Given the description of an element on the screen output the (x, y) to click on. 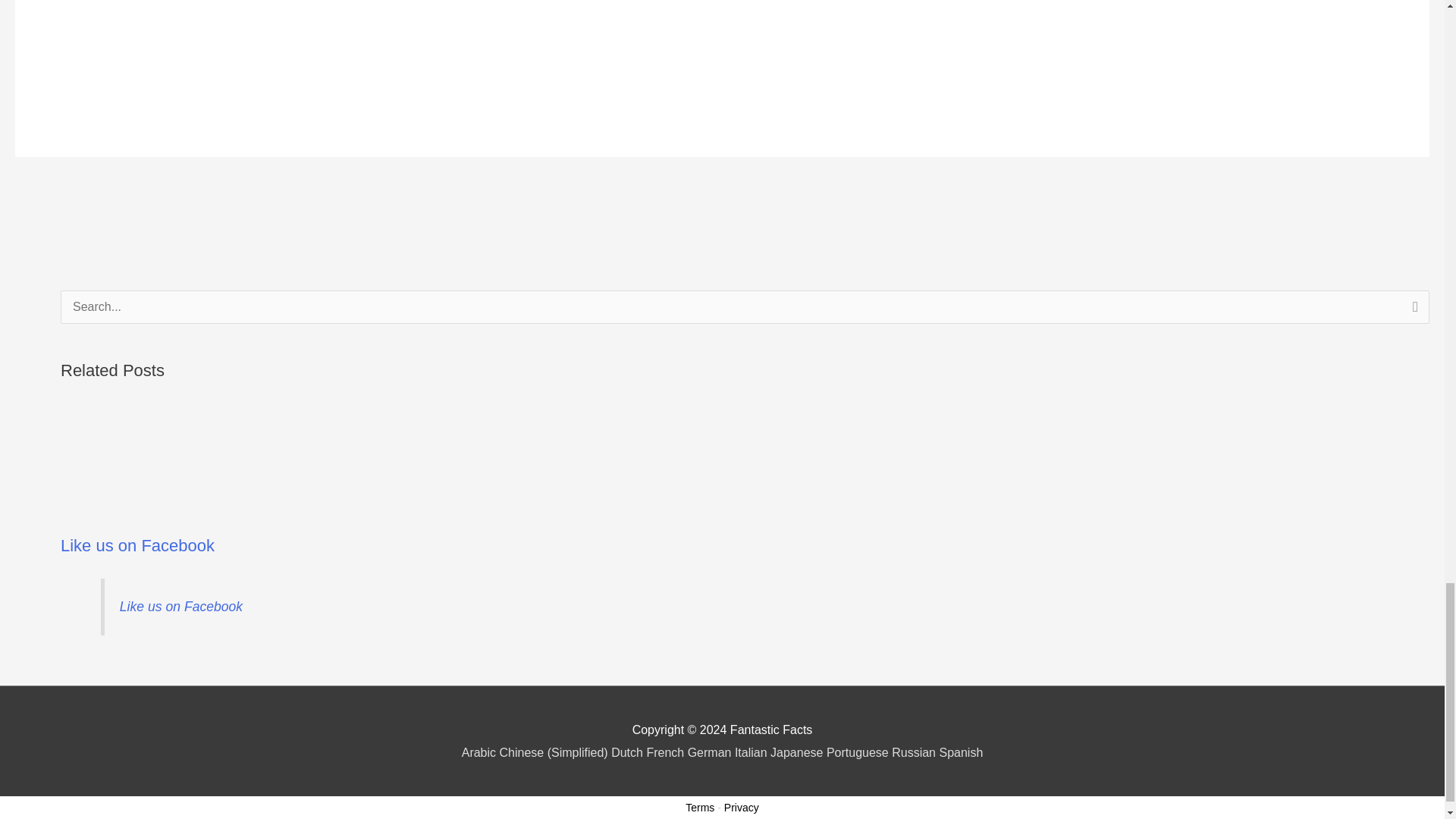
Arabic (480, 752)
Like us on Facebook (181, 606)
Dutch (628, 752)
Arabic (480, 752)
Like us on Facebook (137, 545)
